Given the description of an element on the screen output the (x, y) to click on. 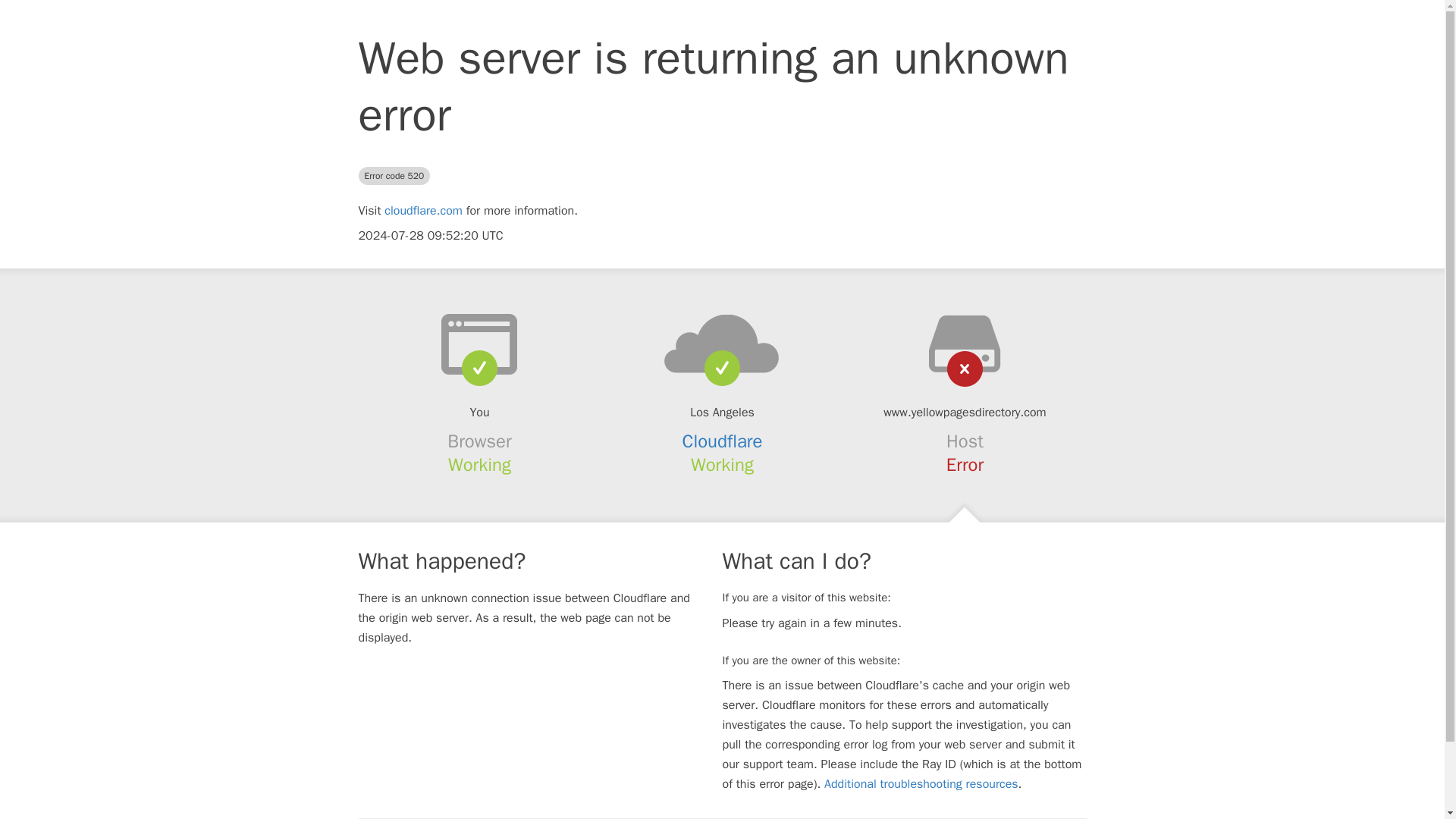
Cloudflare (722, 440)
Additional troubleshooting resources (920, 783)
cloudflare.com (423, 210)
